Given the description of an element on the screen output the (x, y) to click on. 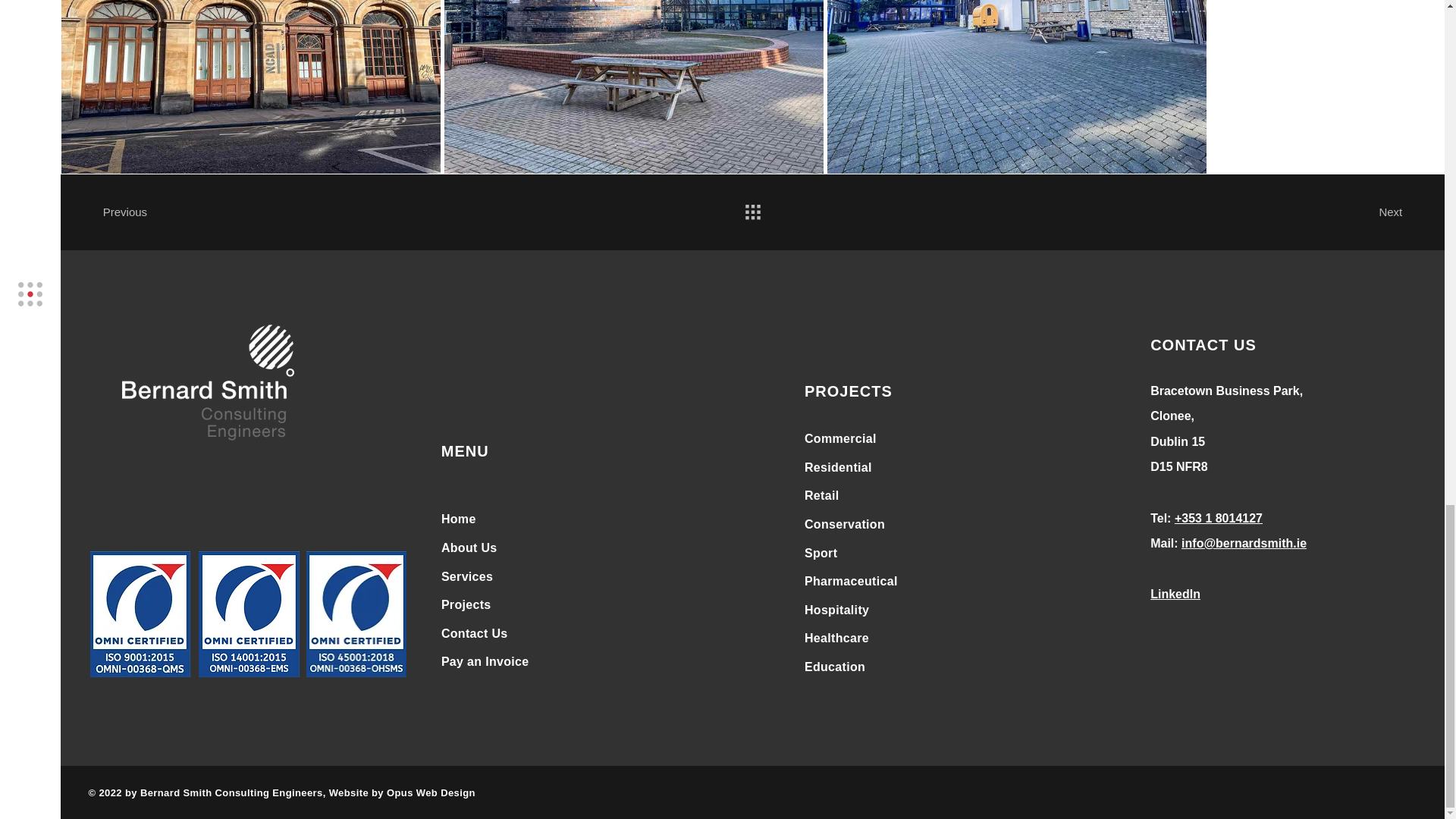
Retail (822, 495)
Education (834, 666)
Residential (838, 467)
Pay an Invoice (485, 661)
Services (467, 576)
Projects (466, 604)
LinkedIn (1174, 594)
Conservation (845, 523)
Commercial (840, 438)
Mail: (1165, 543)
